Given the description of an element on the screen output the (x, y) to click on. 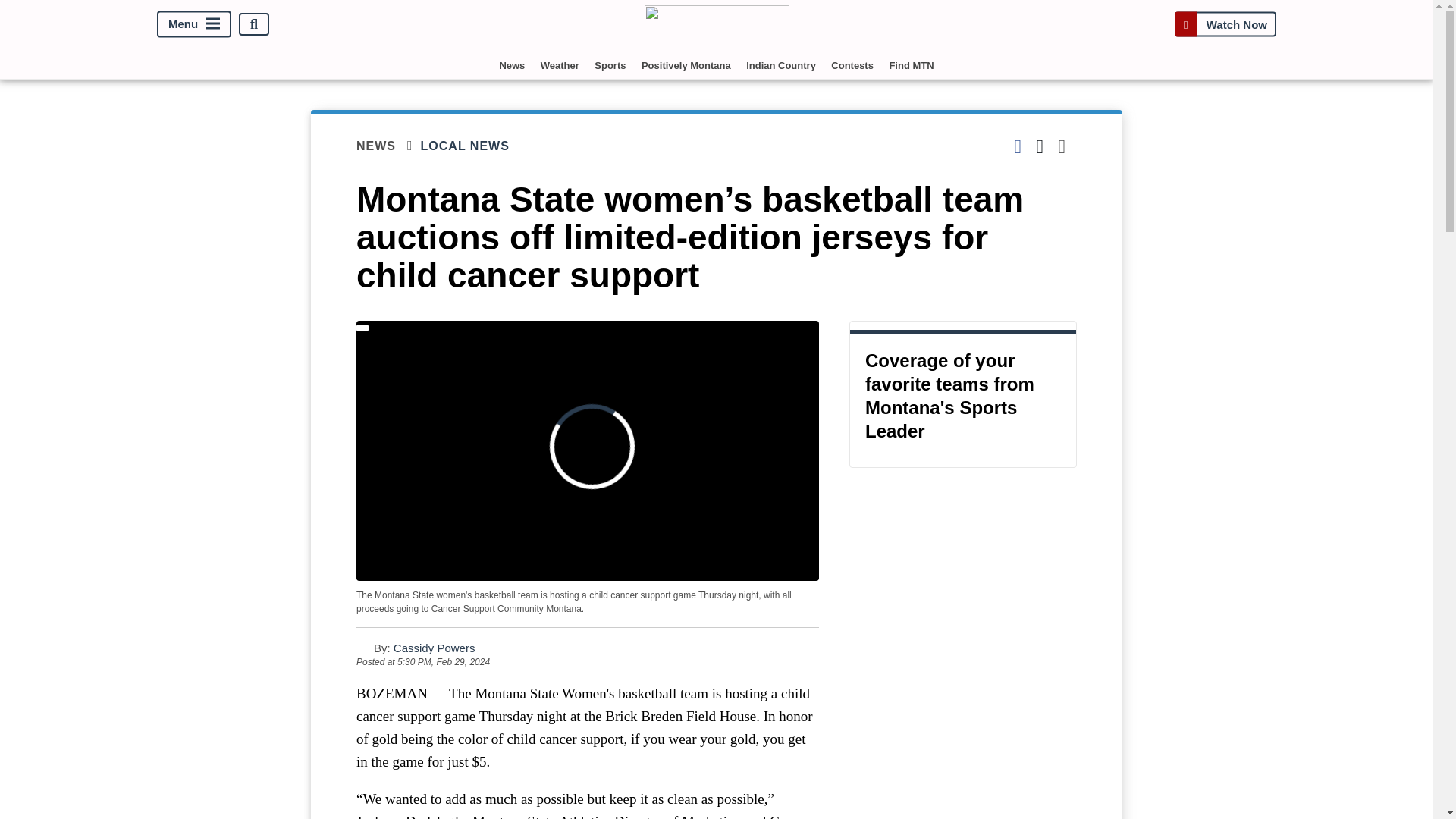
Watch Now (1224, 24)
Menu (194, 24)
